Given the description of an element on the screen output the (x, y) to click on. 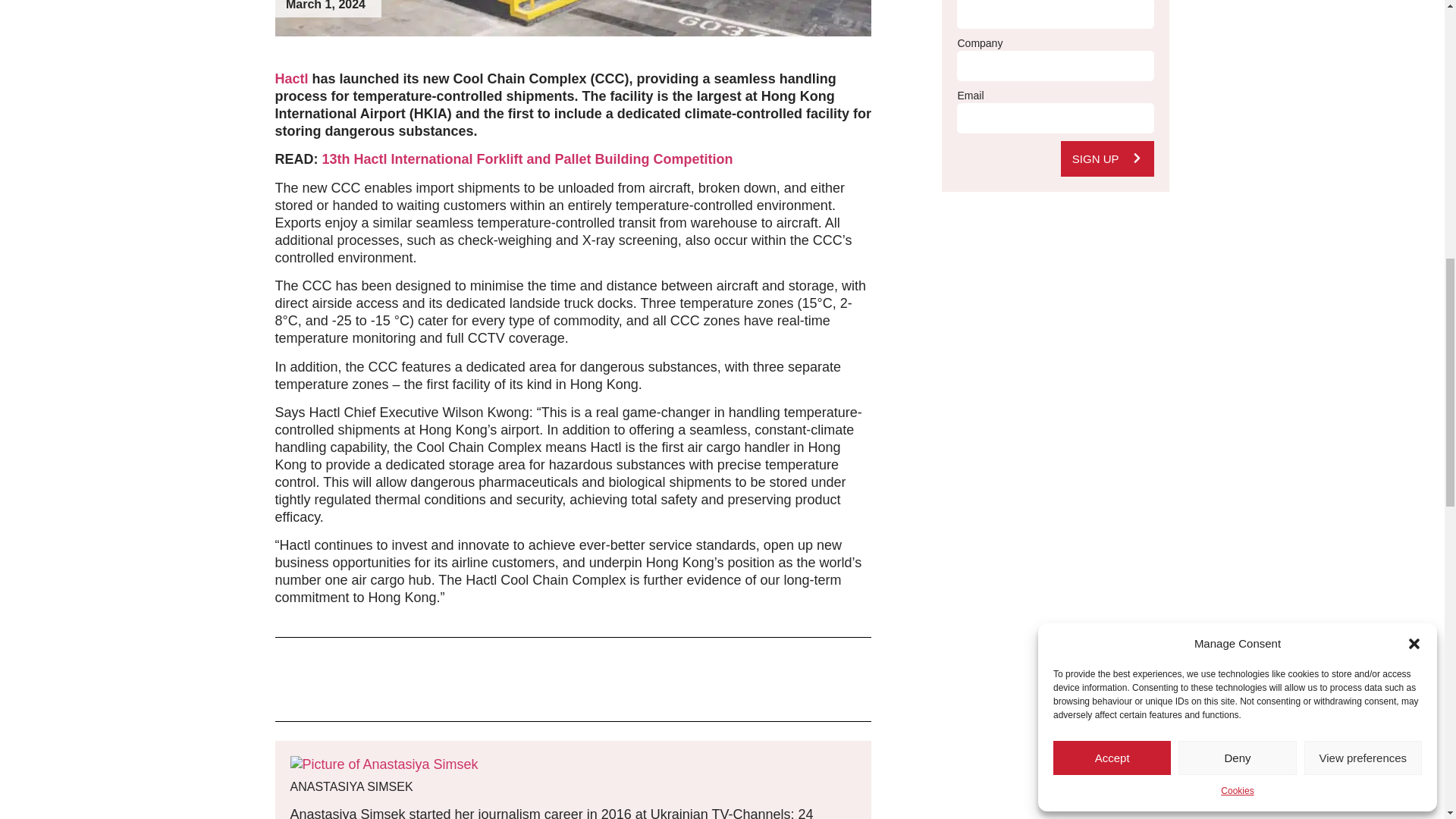
March 1, 2024 (325, 6)
ANASTASIYA SIMSEK (572, 786)
Hactl (291, 78)
